Given the description of an element on the screen output the (x, y) to click on. 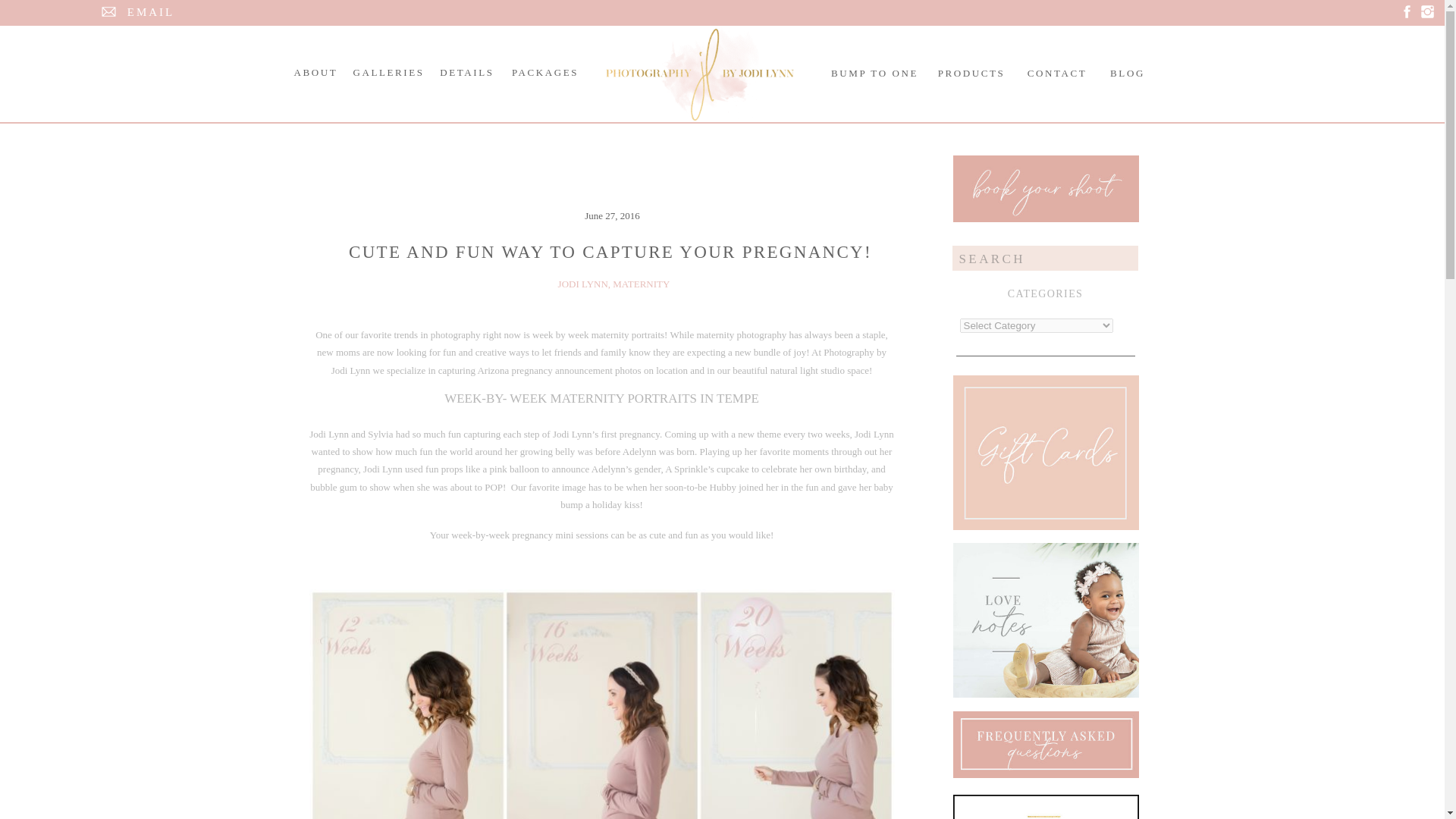
PACKAGES (544, 72)
GALLERIES (389, 72)
EMAIL (150, 12)
PRODUCTS (971, 72)
MATERNITY (640, 283)
BLOG (1126, 72)
DETAILS (466, 72)
CONTACT (1056, 72)
ABOUT (315, 72)
CUTE AND FUN WAY TO CAPTURE YOUR PREGNANCY! (610, 251)
JODI LYNN (582, 283)
BUMP TO ONE (874, 72)
